Given the description of an element on the screen output the (x, y) to click on. 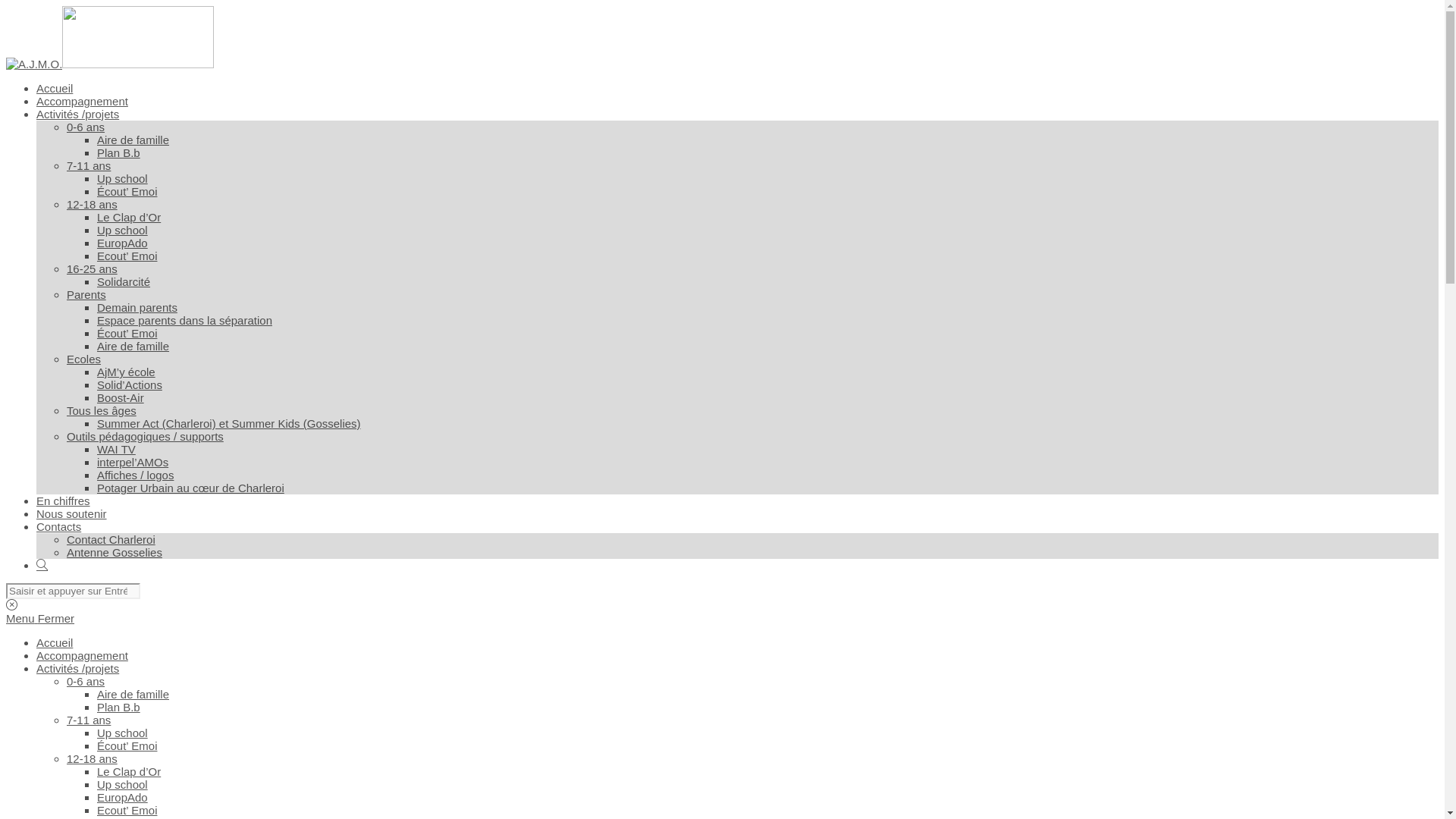
Affiches / logos Element type: text (135, 474)
Accompagnement Element type: text (82, 100)
Up school Element type: text (122, 732)
Up school Element type: text (122, 229)
7-11 ans Element type: text (88, 165)
Aire de famille Element type: text (133, 345)
Aire de famille Element type: text (133, 693)
Toggle website search Element type: text (41, 564)
Antenne Gosselies Element type: text (114, 552)
Accueil Element type: text (54, 87)
16-25 ans Element type: text (91, 268)
7-11 ans Element type: text (88, 719)
EuropAdo Element type: text (122, 242)
12-18 ans Element type: text (91, 758)
Nous soutenir Element type: text (71, 513)
Contacts Element type: text (58, 526)
EuropAdo Element type: text (122, 796)
Accompagnement Element type: text (82, 655)
Skip to content Element type: text (5, 5)
Summer Act (Charleroi) et Summer Kids (Gosselies) Element type: text (228, 423)
Plan B.b Element type: text (118, 706)
Parents Element type: text (86, 294)
Up school Element type: text (122, 178)
Aire de famille Element type: text (133, 139)
0-6 ans Element type: text (85, 680)
Accueil Element type: text (54, 642)
Plan B.b Element type: text (118, 152)
Demain parents Element type: text (137, 307)
Contact Charleroi Element type: text (110, 539)
WAI TV Element type: text (116, 448)
Menu Fermer Element type: text (40, 617)
0-6 ans Element type: text (85, 126)
Boost-Air Element type: text (120, 397)
Up school Element type: text (122, 784)
12-18 ans Element type: text (91, 203)
En chiffres Element type: text (63, 500)
Ecoles Element type: text (83, 358)
